Given the description of an element on the screen output the (x, y) to click on. 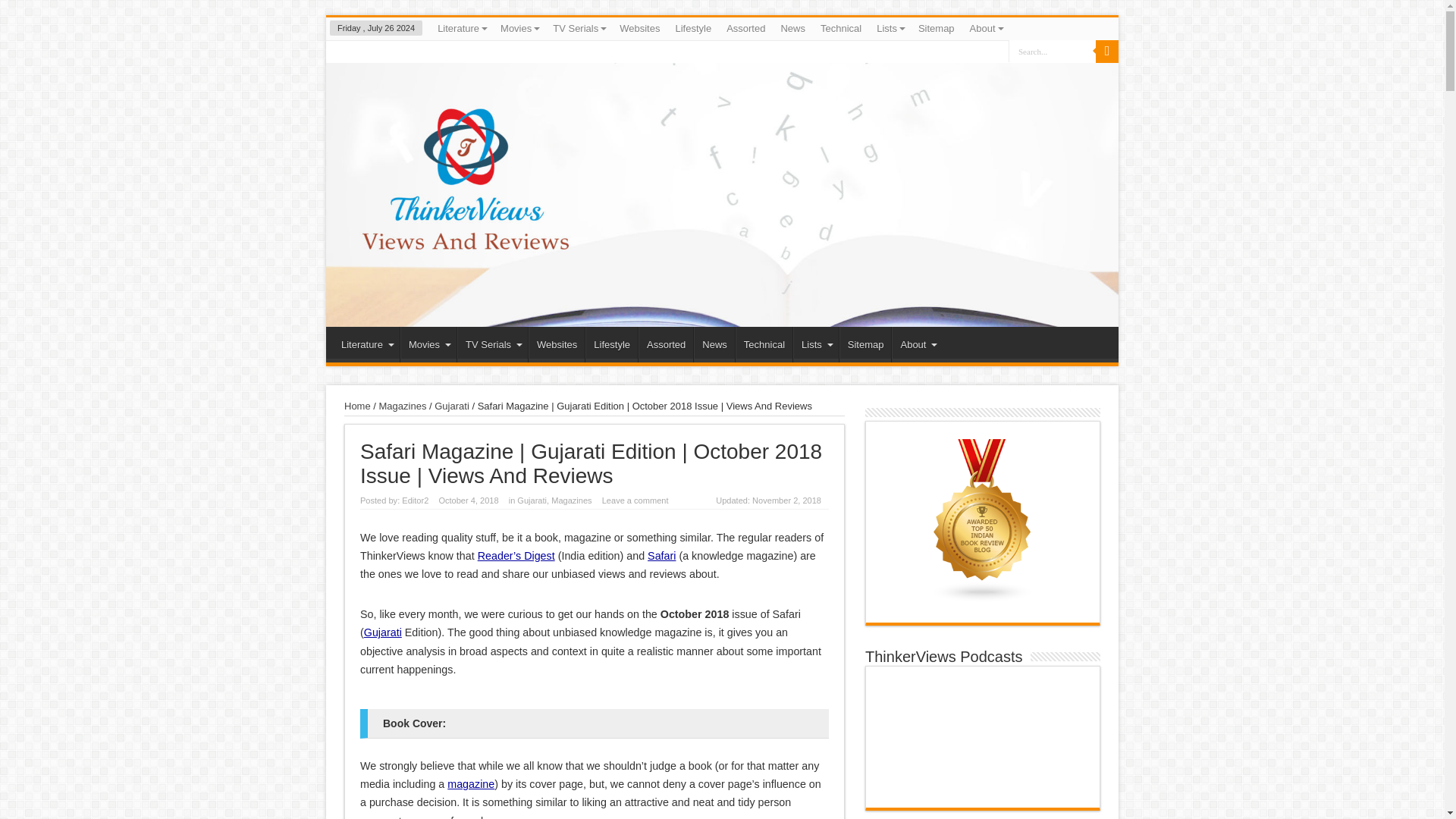
Search... (1052, 51)
Technical (840, 28)
TV Serials (577, 28)
Lifestyle (692, 28)
Assorted (746, 28)
About (985, 28)
Literature (365, 344)
Sitemap (936, 28)
Literature Views and Reviews (461, 28)
Websites (638, 28)
Literature (461, 28)
Movies (518, 28)
News (792, 28)
TV Series Details and Reviews (577, 28)
Latest News And Informative Stuff (792, 28)
